Given the description of an element on the screen output the (x, y) to click on. 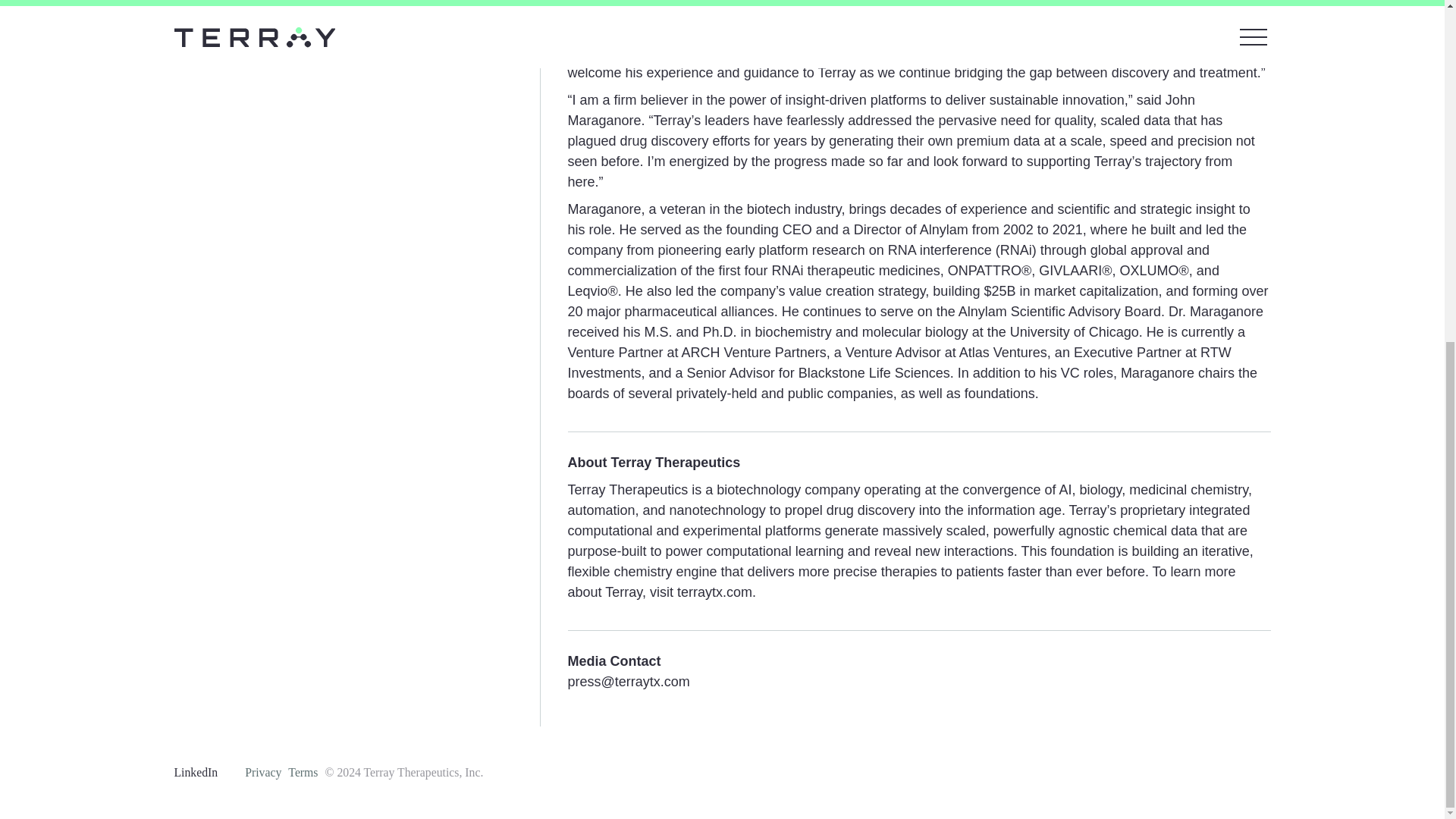
Privacy (262, 773)
Terms (302, 773)
LinkedIn (196, 771)
